Given the description of an element on the screen output the (x, y) to click on. 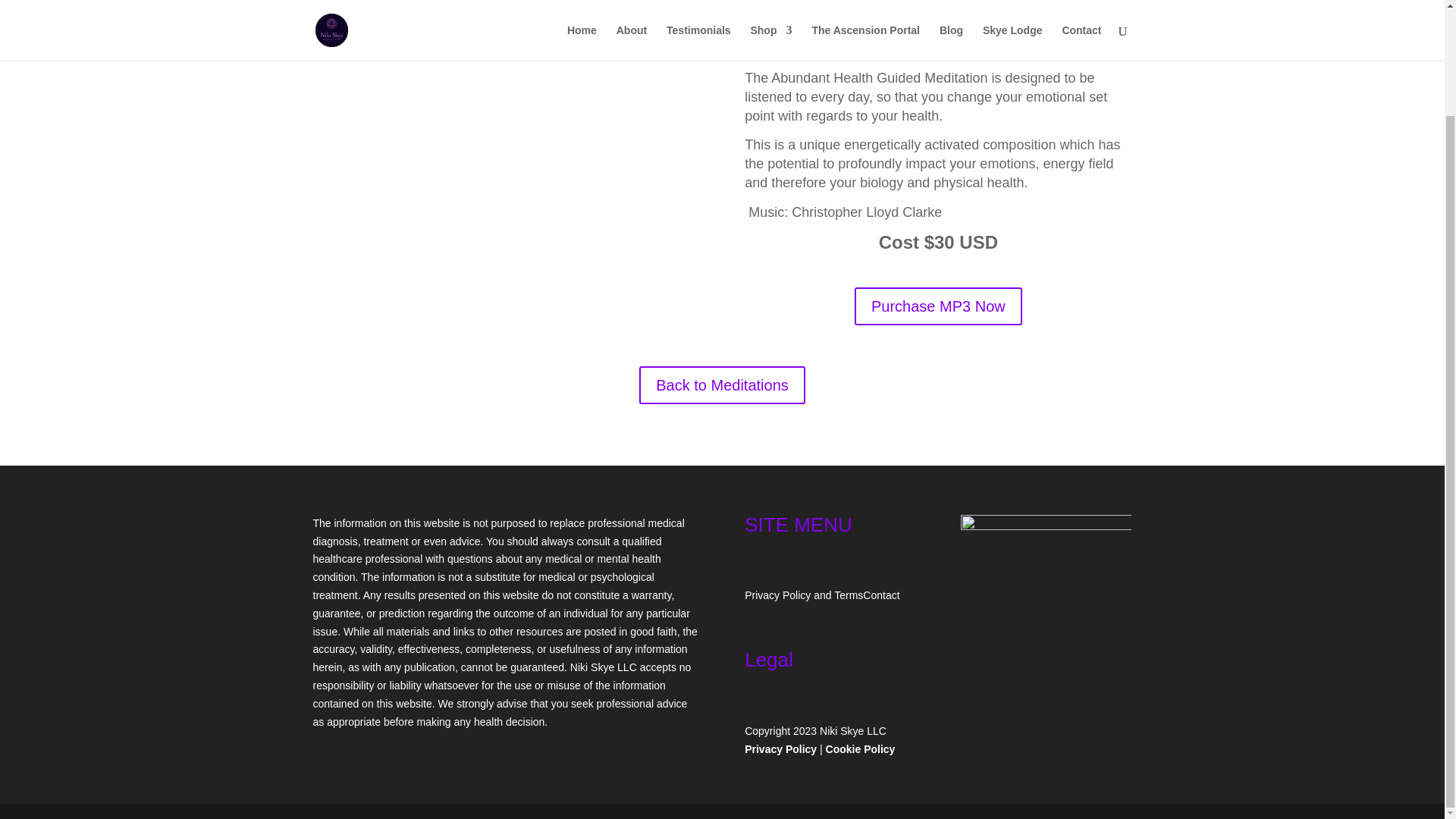
Privacy Policy (780, 748)
Contact (881, 594)
Abundant Health Meditation (505, 178)
Purchase MP3 Now (938, 306)
Back to Meditations (722, 385)
Privacy Policy and Terms (803, 594)
Cookie Policy (860, 748)
